Given the description of an element on the screen output the (x, y) to click on. 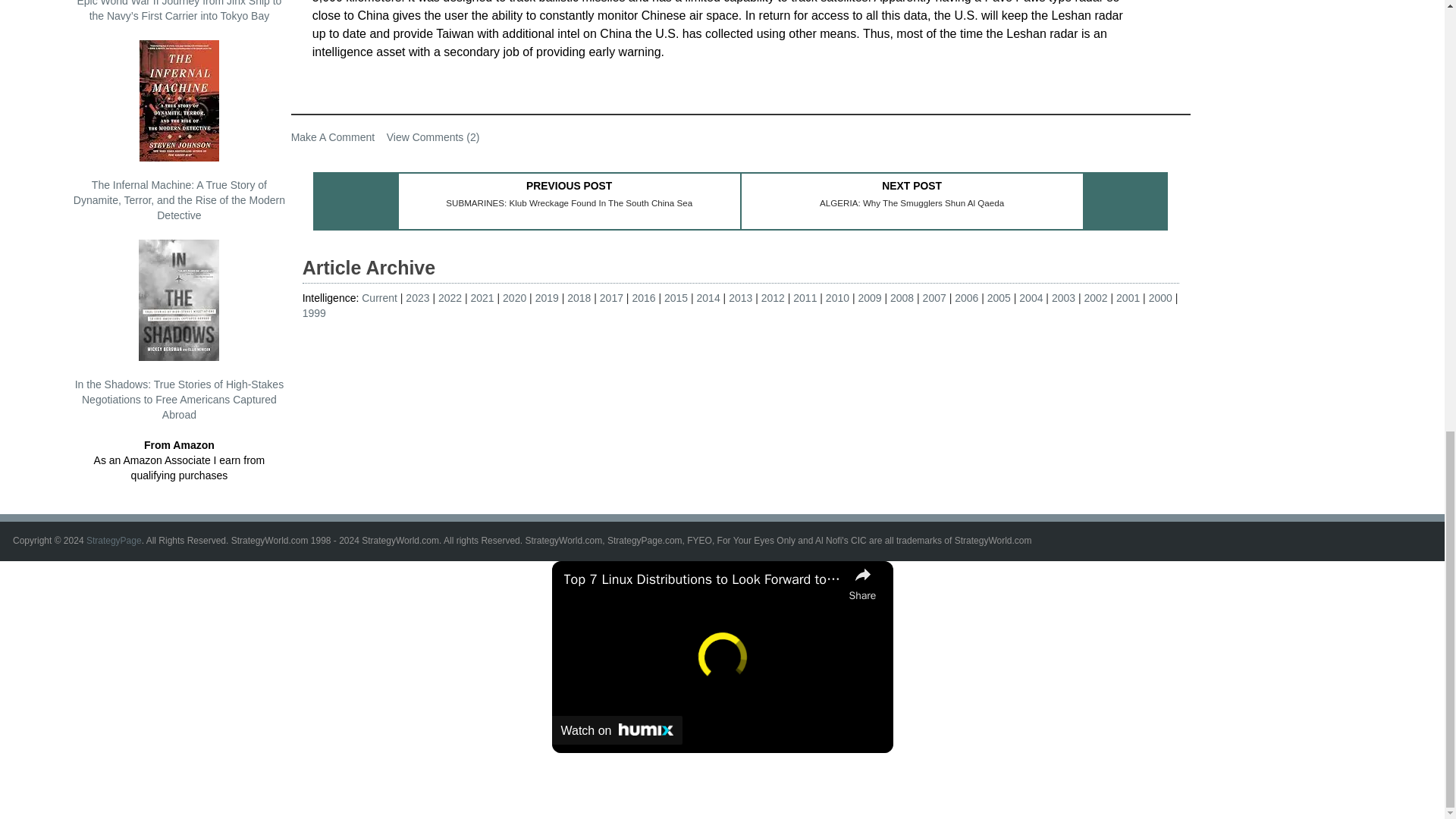
share (862, 582)
